Given the description of an element on the screen output the (x, y) to click on. 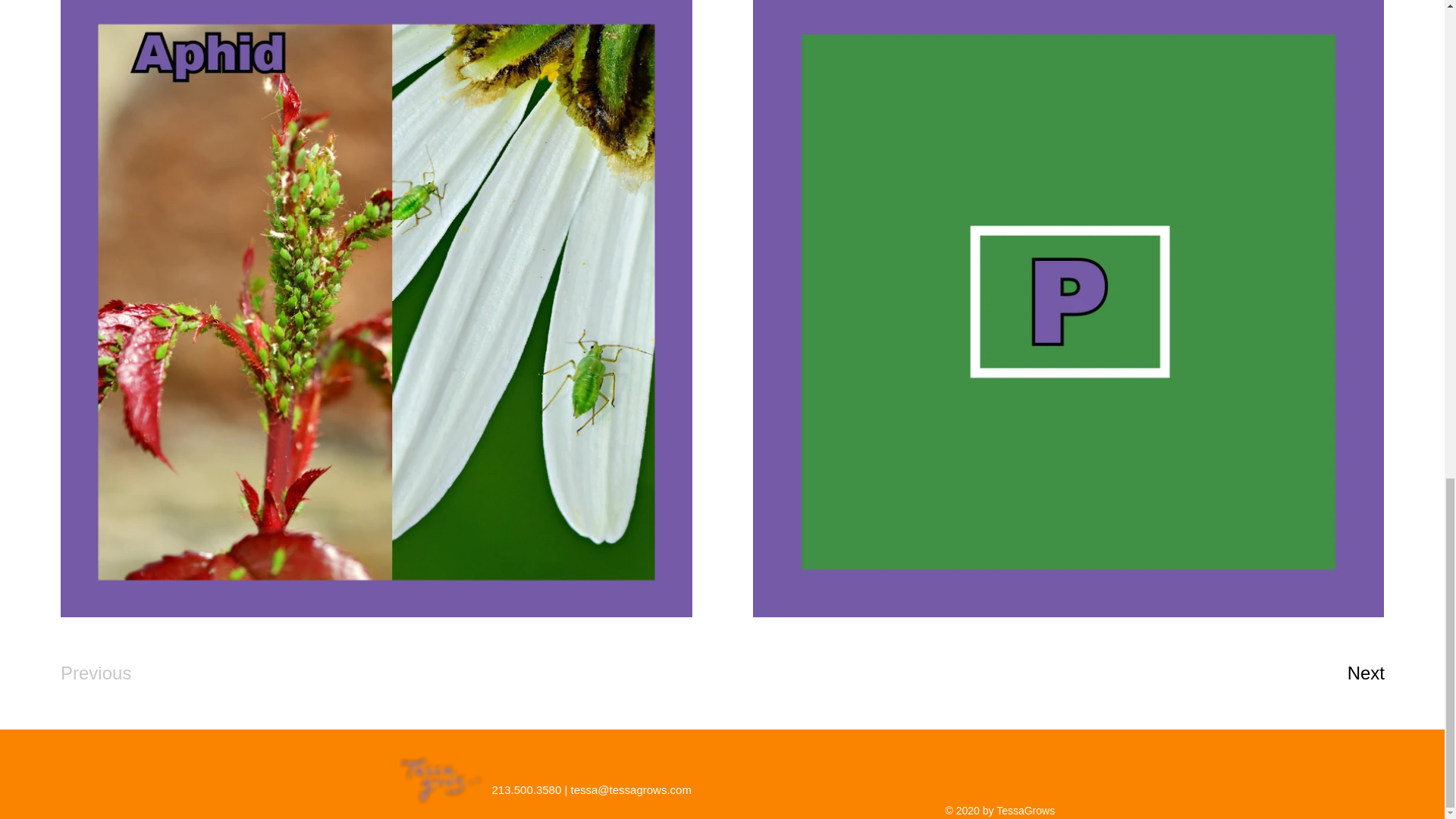
Next (1334, 673)
Previous (114, 673)
